Given the description of an element on the screen output the (x, y) to click on. 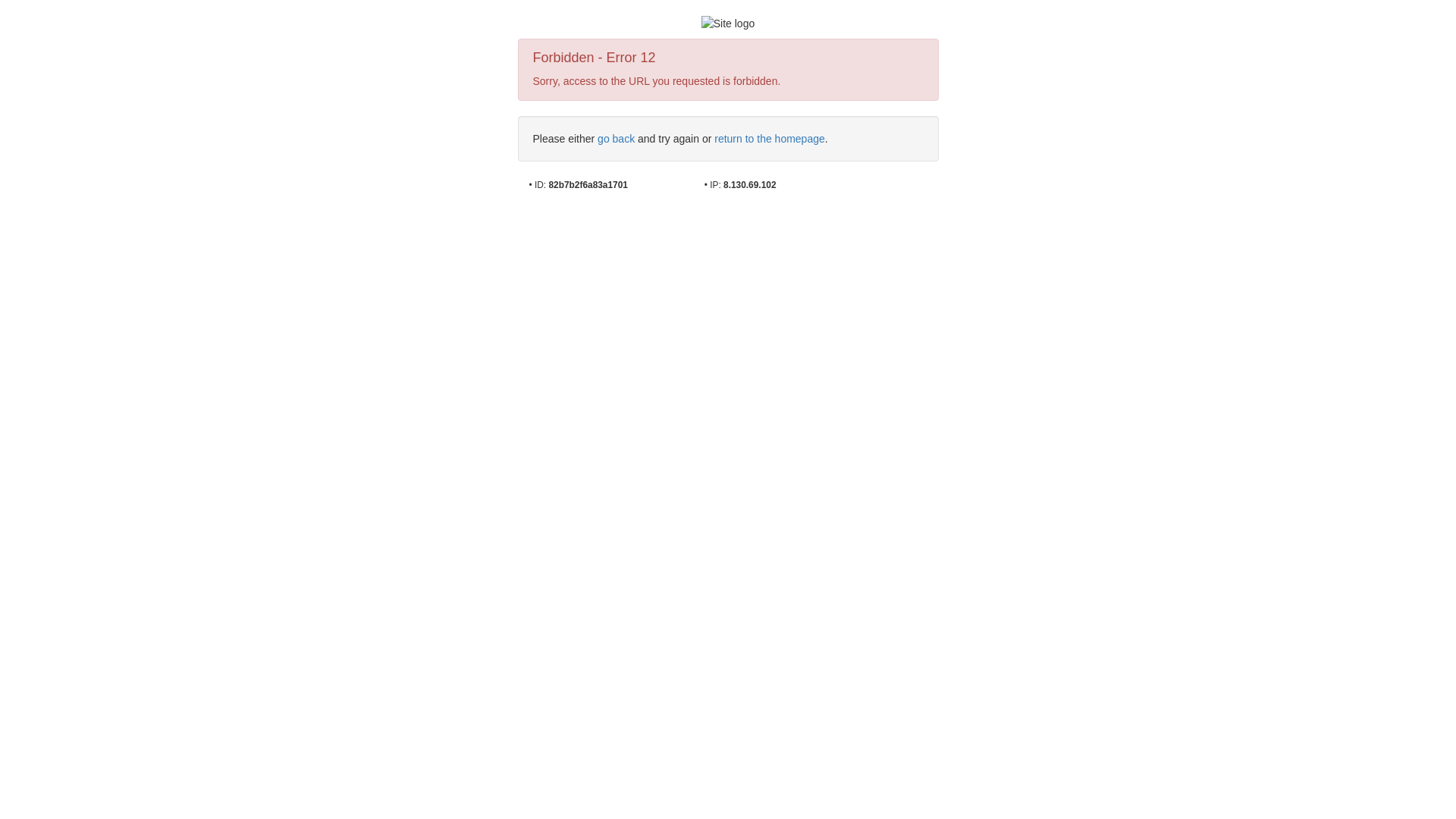
return to the homepage Element type: text (769, 138)
go back Element type: text (615, 138)
